Given the description of an element on the screen output the (x, y) to click on. 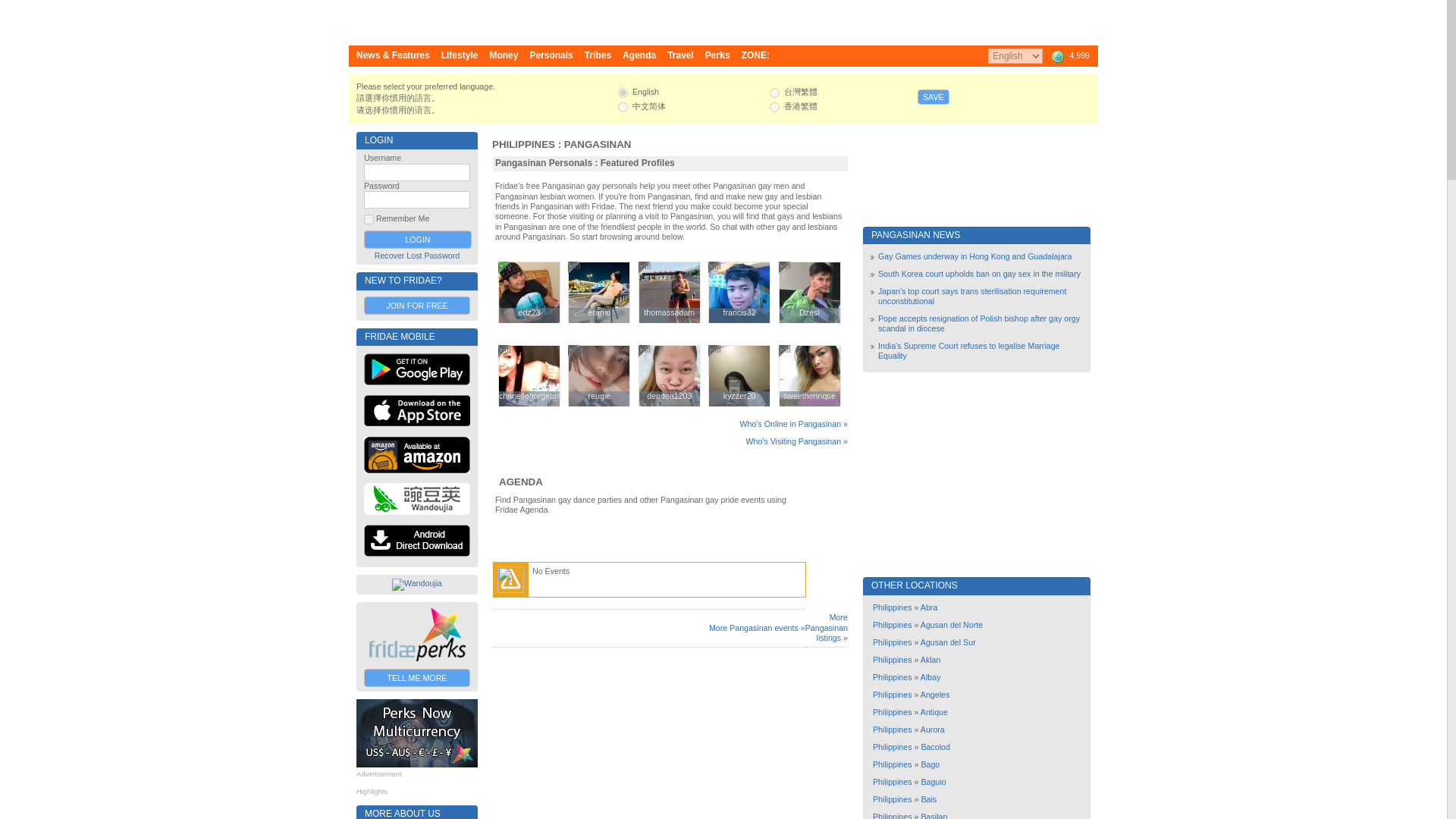
SAVE (933, 96)
Lifestyle (460, 55)
Agenda (639, 55)
sc (622, 107)
Money (503, 55)
Login (417, 239)
4,999 (1069, 56)
JOIN FOR FREE (417, 305)
hk (774, 107)
Perks (717, 55)
